Given the description of an element on the screen output the (x, y) to click on. 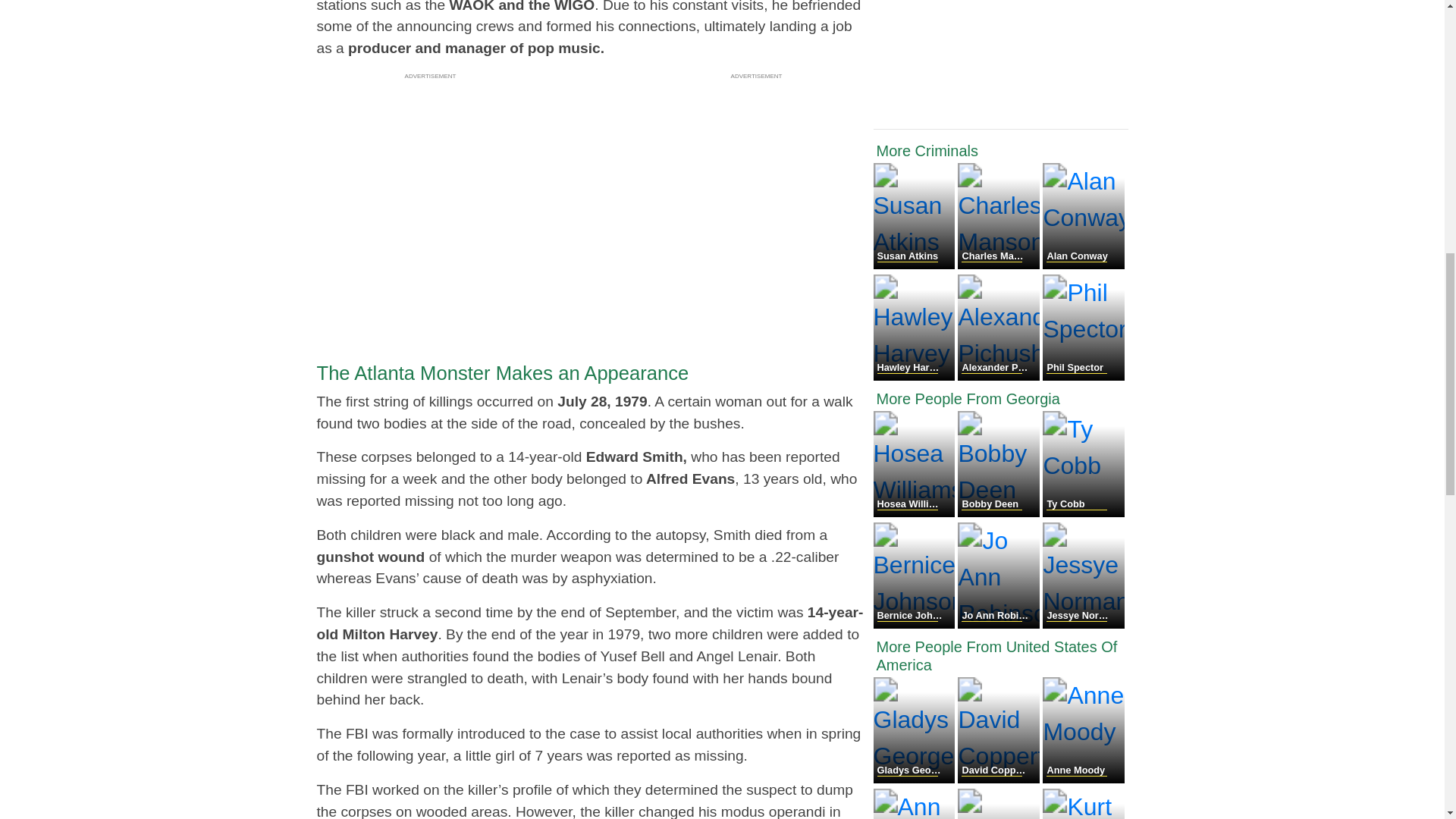
Bernice Johnson Reagon (915, 624)
Ty Cobb (1083, 512)
Susan Atkins (915, 264)
Alexander Pichushkin (1000, 376)
David Copperfield (1000, 779)
Charles Manson (1000, 264)
Gladys George (915, 779)
Anne Moody (1083, 779)
Bobby Deen (1000, 512)
More People From Georgia (1000, 398)
Phil Spector (1083, 376)
More Criminals (1000, 150)
Hosea Williams (915, 512)
Jessye Norman (1083, 624)
Hawley Harvey Crippen (915, 376)
